Given the description of an element on the screen output the (x, y) to click on. 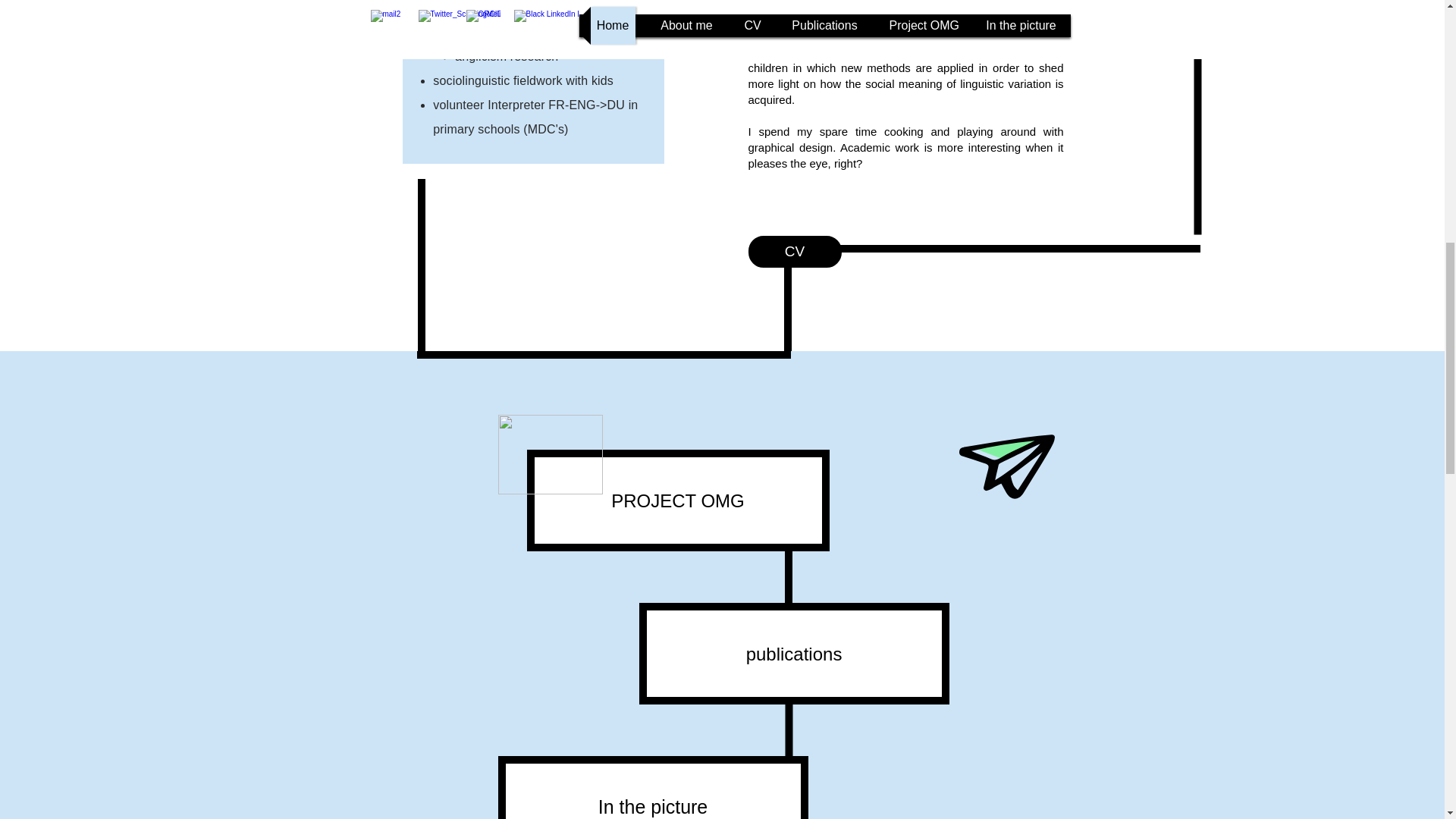
omg.png (549, 454)
CV (794, 251)
PROJECT OMG (676, 500)
publications (794, 653)
In the picture (652, 787)
